Given the description of an element on the screen output the (x, y) to click on. 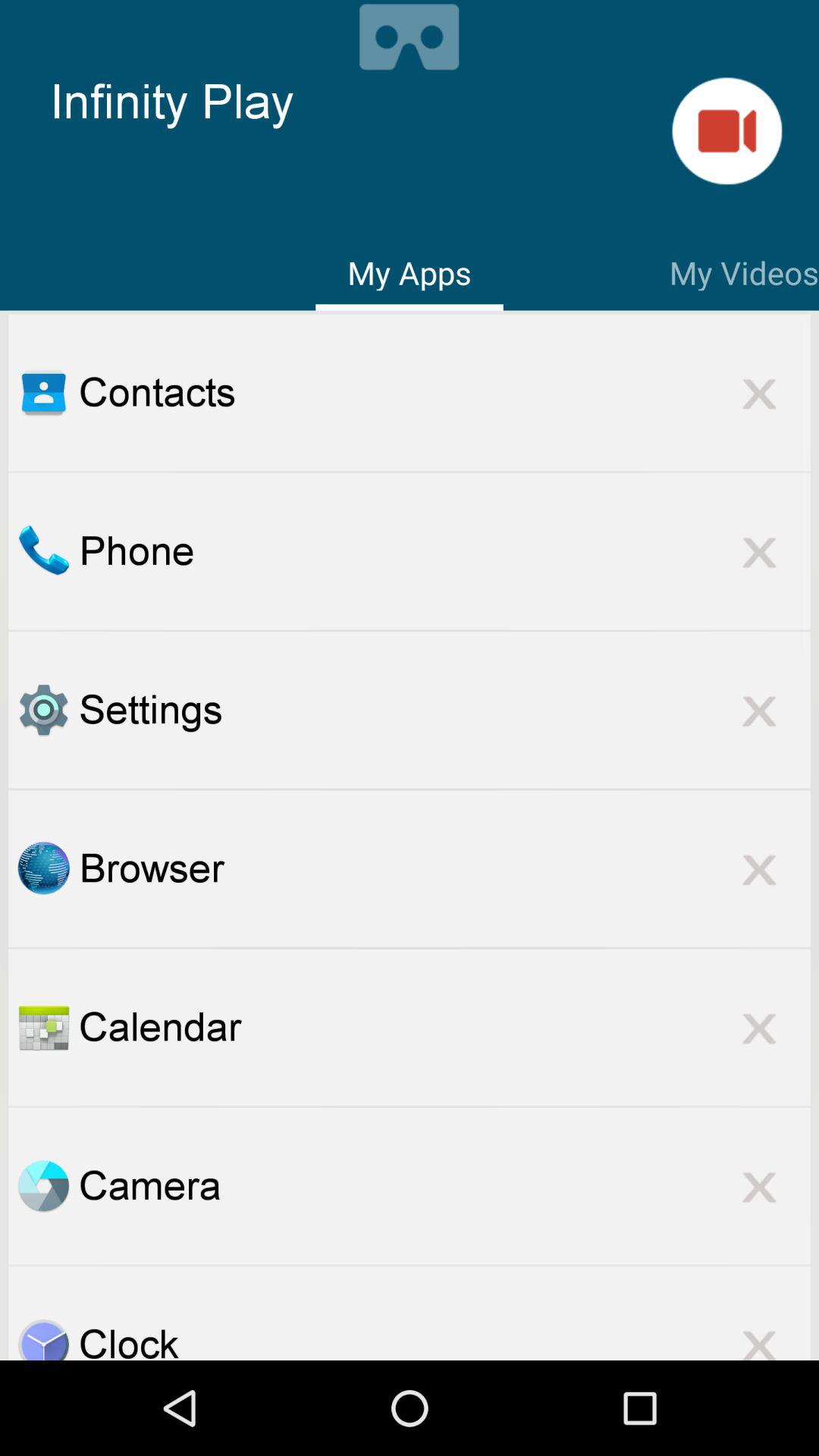
closes app (759, 1186)
